Given the description of an element on the screen output the (x, y) to click on. 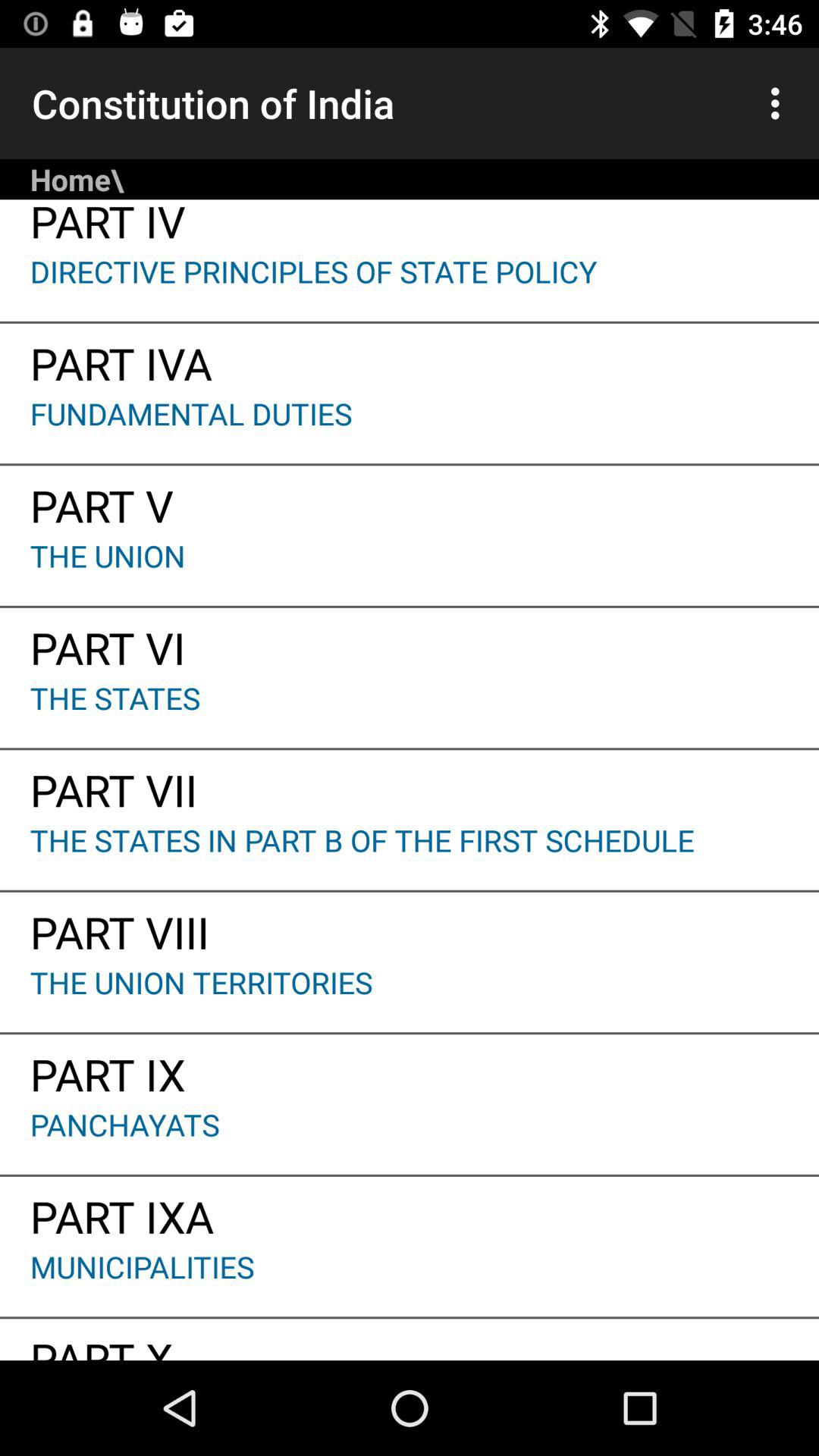
open the icon above fundamental duties (409, 358)
